Given the description of an element on the screen output the (x, y) to click on. 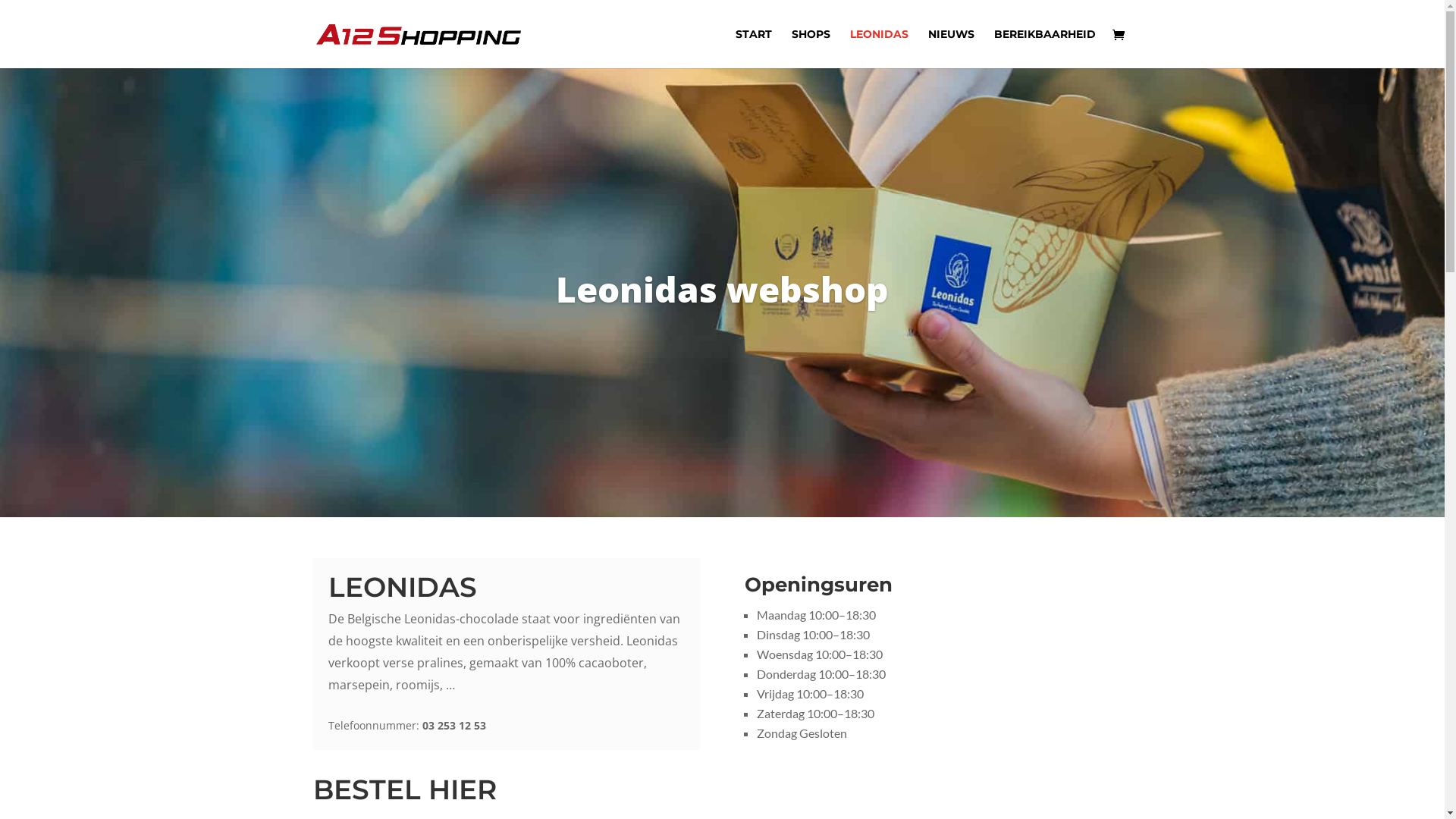
NIEUWS Element type: text (951, 48)
SHOPS Element type: text (810, 48)
LEONIDAS Element type: text (878, 48)
BEREIKBAARHEID Element type: text (1044, 48)
START Element type: text (753, 48)
